Given the description of an element on the screen output the (x, y) to click on. 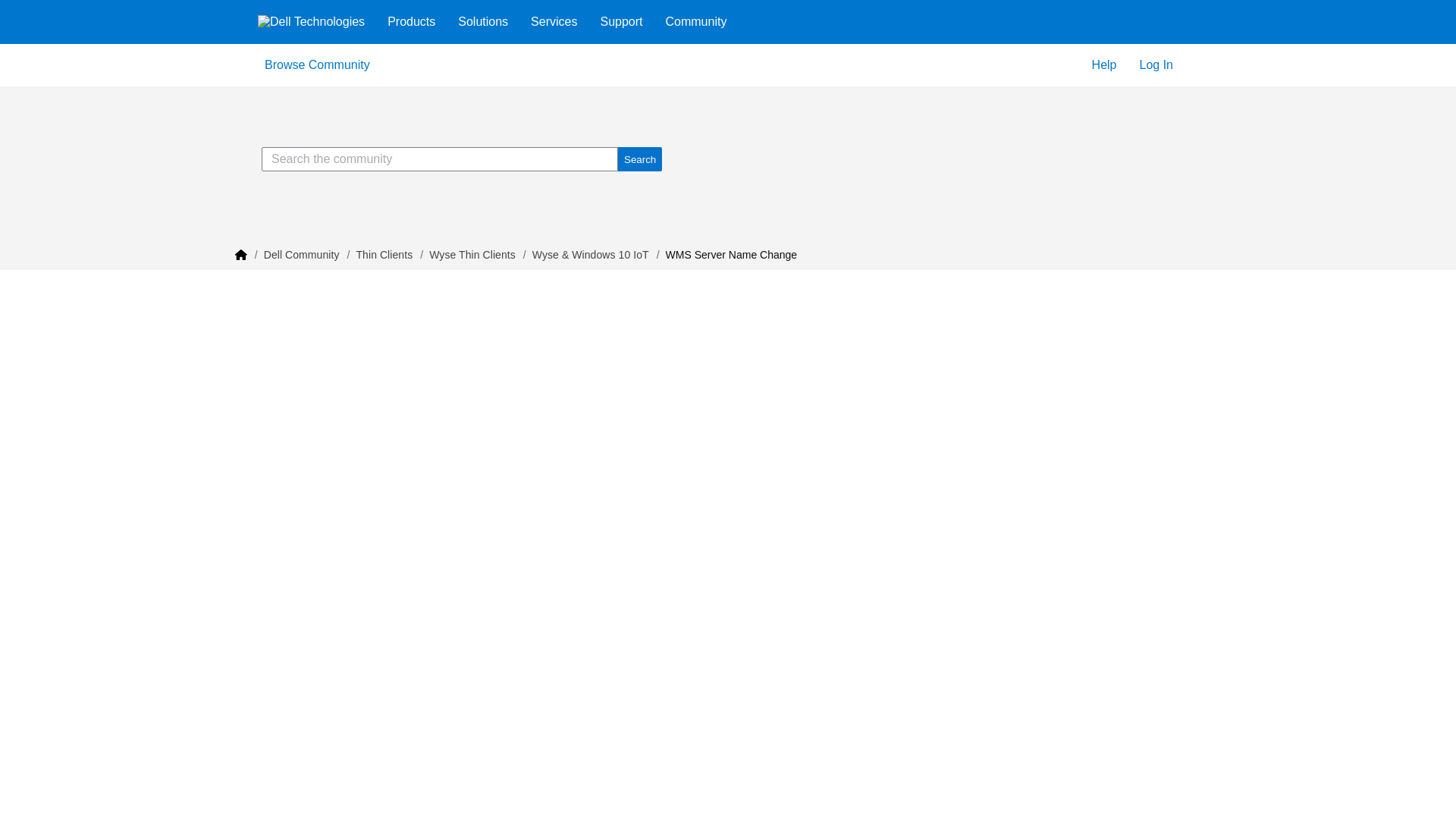
Language (1202, 64)
Products (411, 21)
Community (695, 21)
Dell Community (301, 254)
Support (620, 21)
Solutions (483, 21)
Services (553, 21)
Log In (1156, 64)
Help (1104, 64)
Browse Community (307, 64)
